Given the description of an element on the screen output the (x, y) to click on. 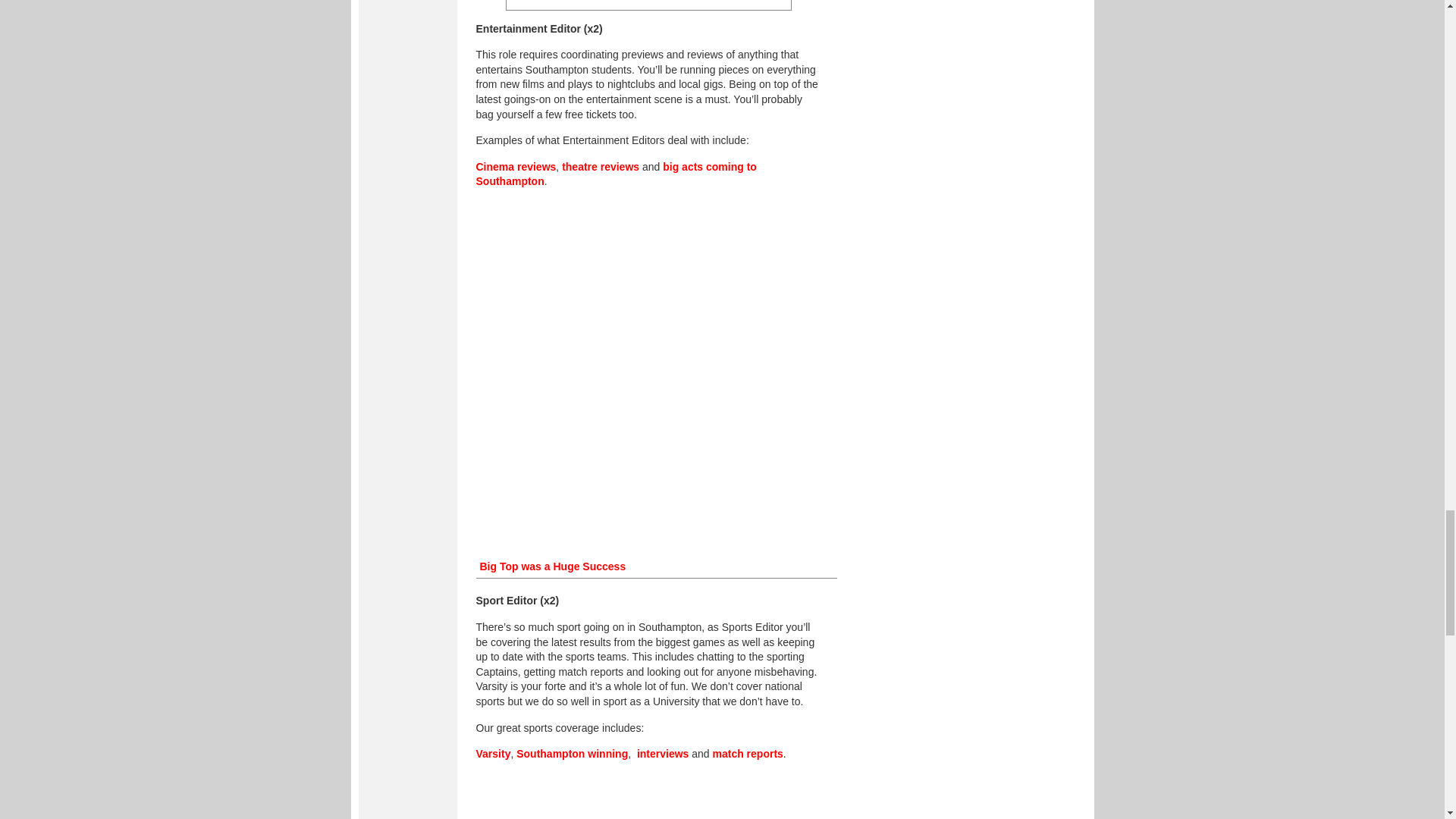
Cinema reviews (516, 166)
interviews (662, 753)
Varsity (493, 753)
match reports (748, 753)
big acts coming to Southampton (616, 174)
Southampton winning (571, 753)
theatre reviews (600, 166)
